Given the description of an element on the screen output the (x, y) to click on. 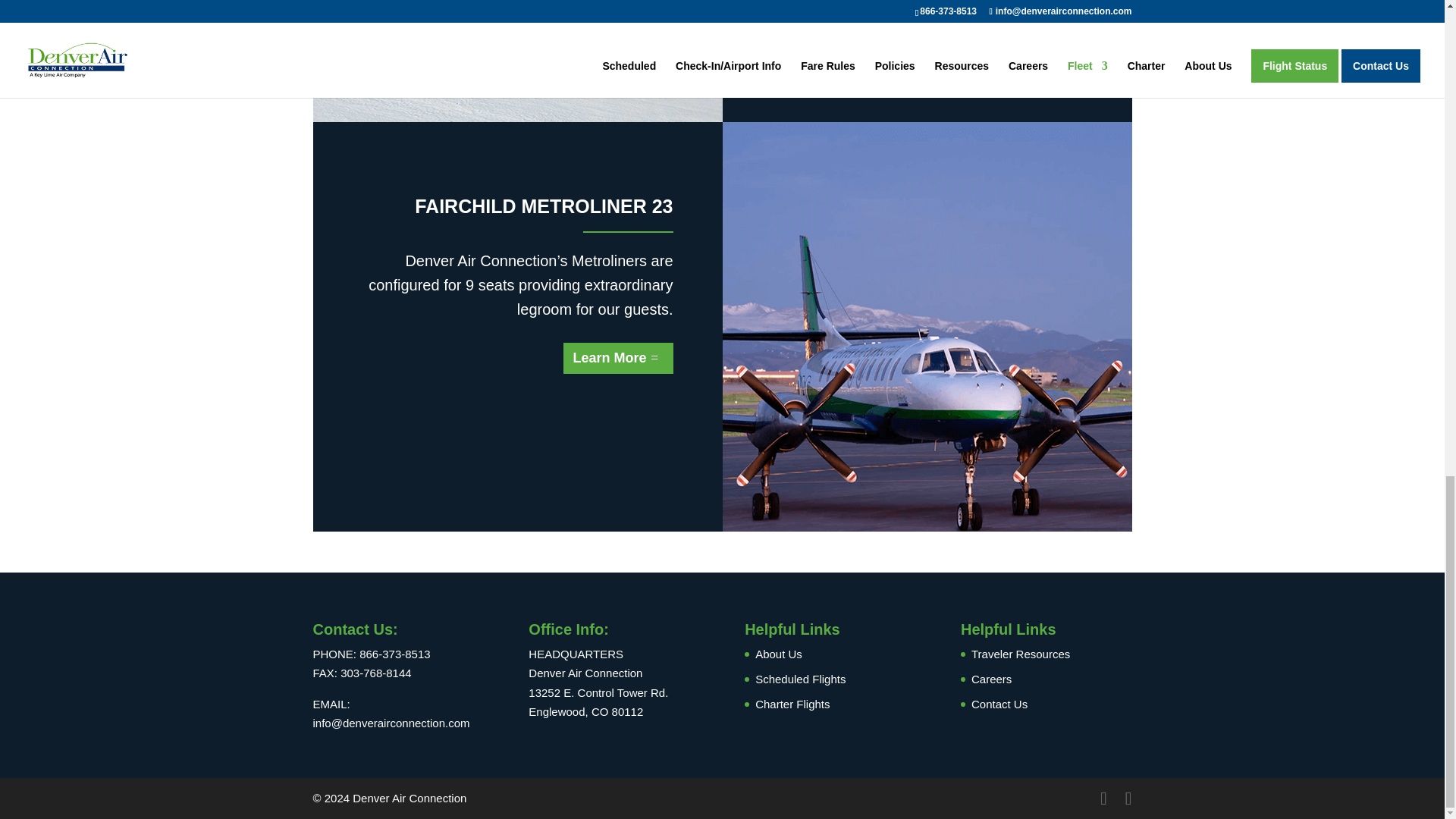
Charter Flights (792, 703)
Learn More (617, 358)
Scheduled Flights (800, 678)
About Us (778, 653)
Learn More (814, 9)
fleet2 (517, 61)
